Given the description of an element on the screen output the (x, y) to click on. 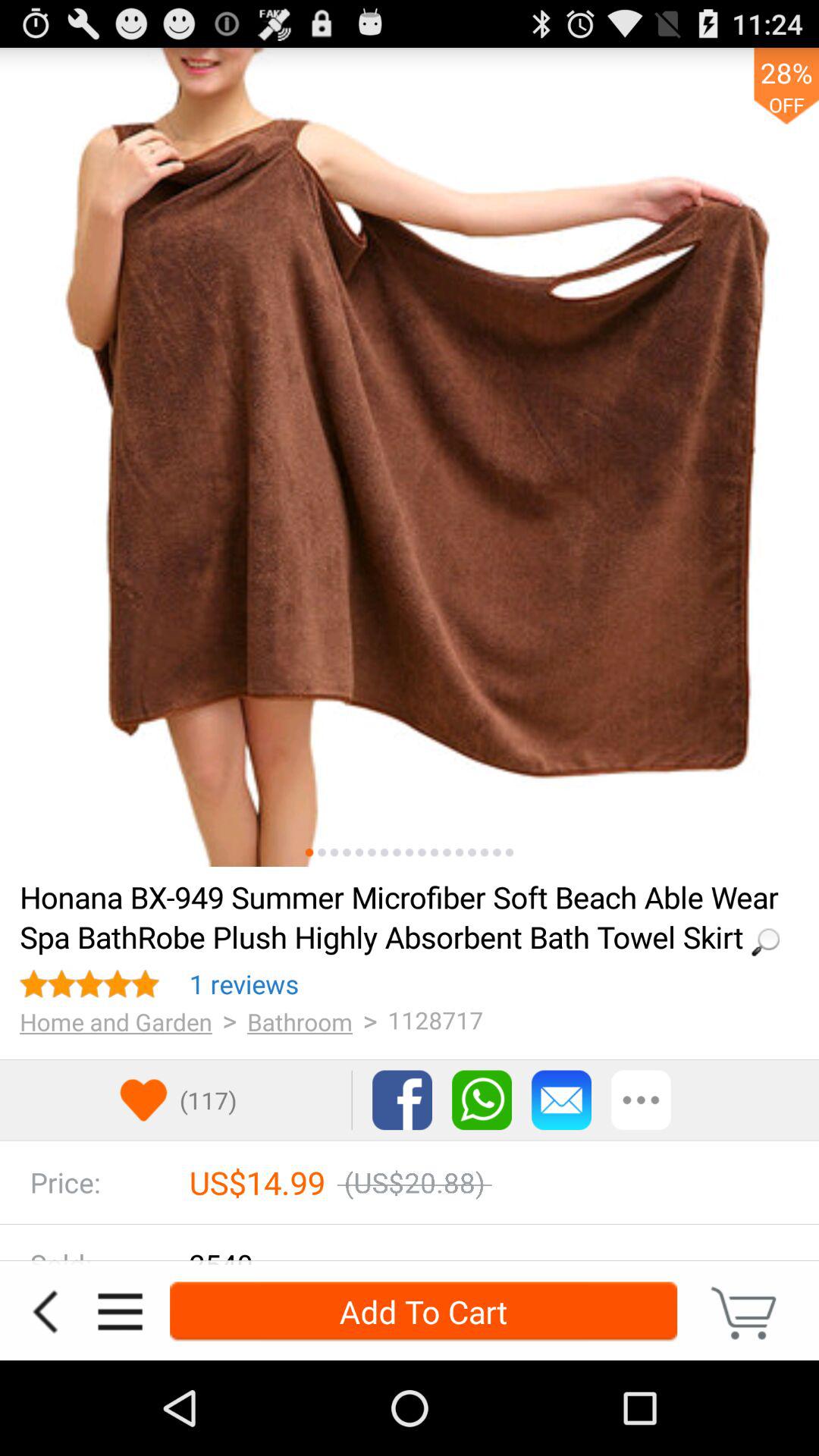
shows more images (459, 852)
